Given the description of an element on the screen output the (x, y) to click on. 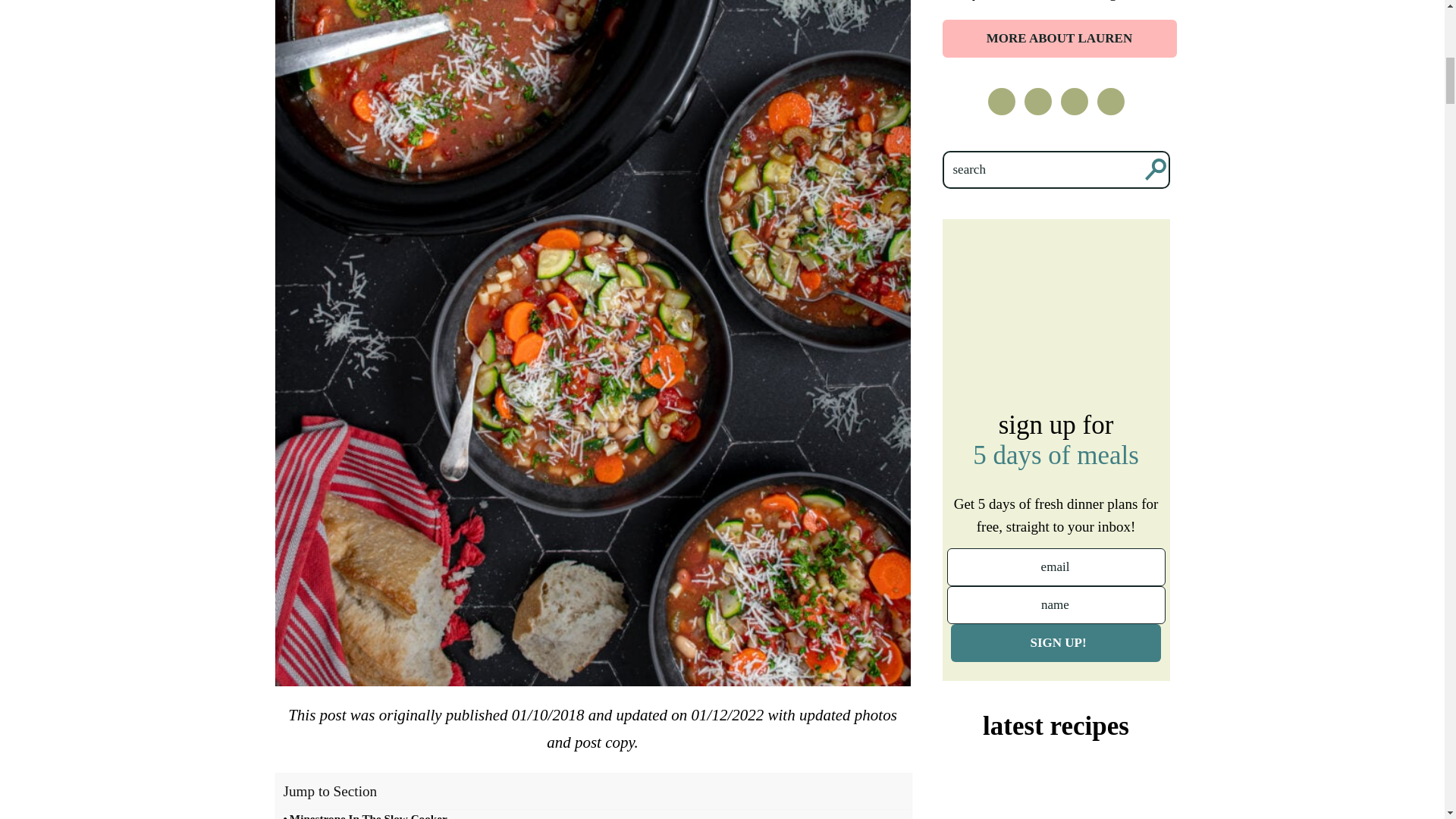
sign up! (1055, 642)
